Given the description of an element on the screen output the (x, y) to click on. 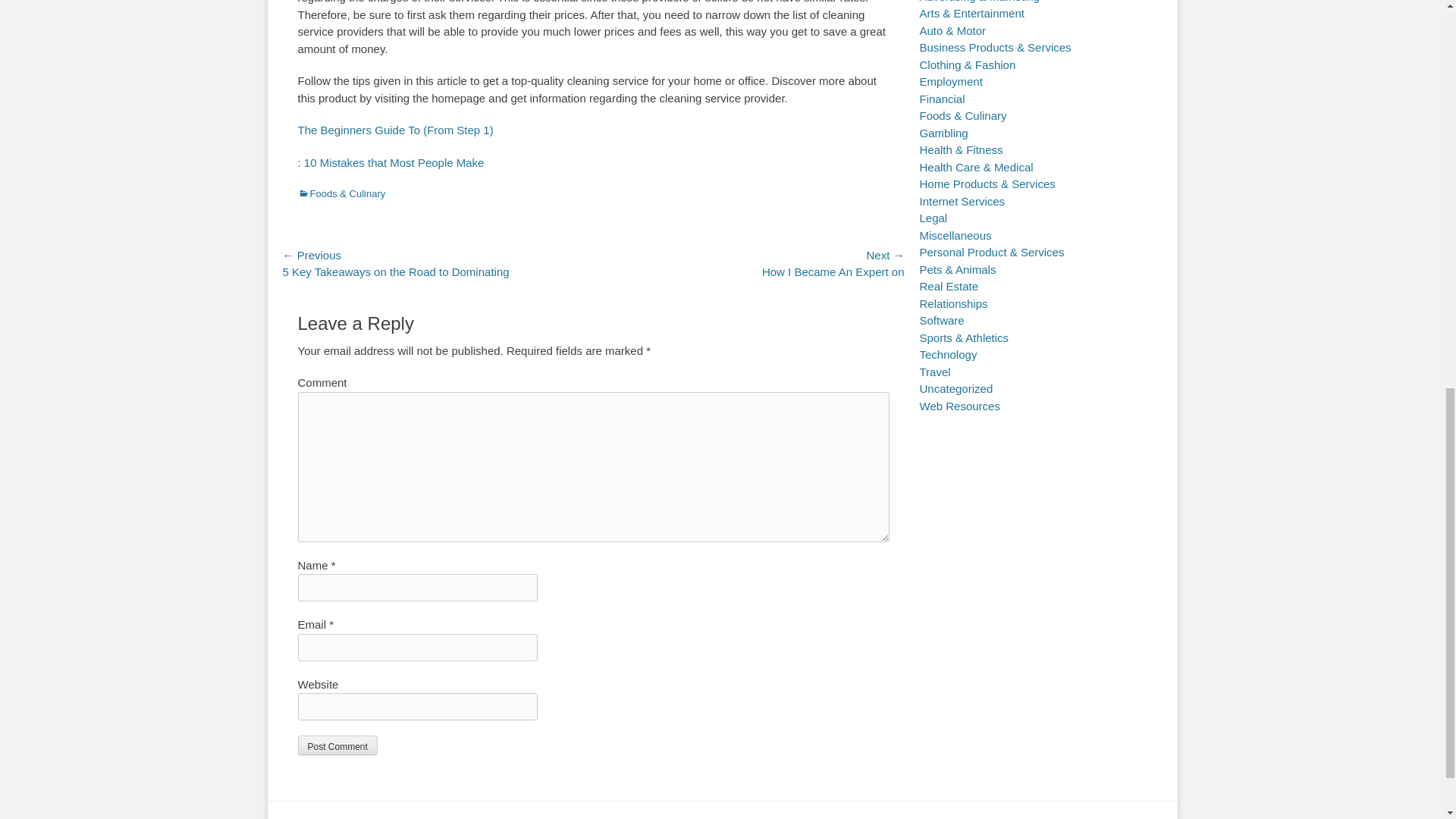
Post Comment (337, 745)
: 10 Mistakes that Most People Make (390, 162)
Post Comment (337, 745)
